Given the description of an element on the screen output the (x, y) to click on. 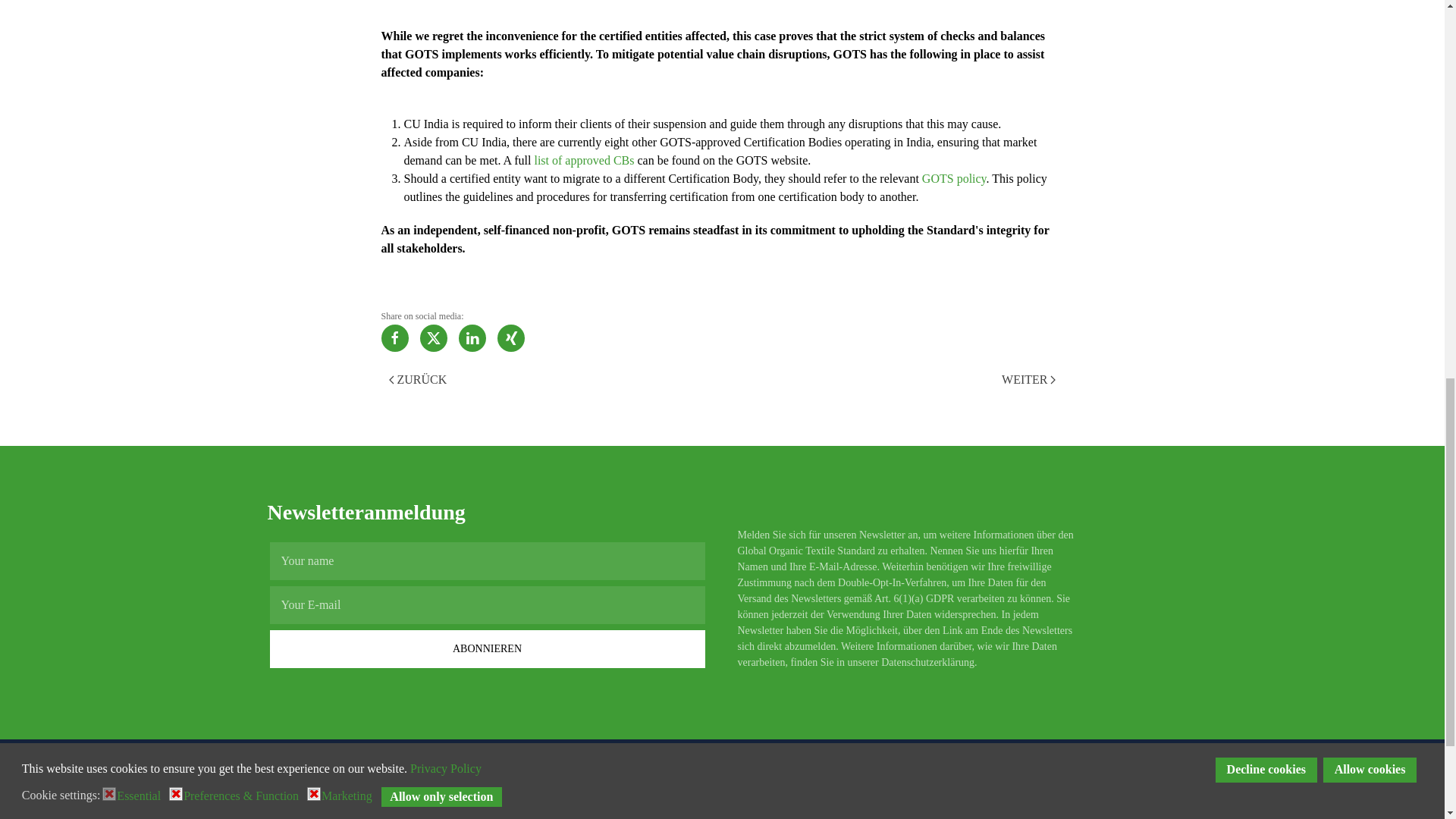
Abonnieren (486, 648)
Xing (397, 816)
Your name (486, 560)
LinkedIN (471, 338)
Your E-mail (486, 605)
Xing (510, 338)
LinkedIN (357, 816)
Your E-mail (486, 605)
Twitter (319, 816)
Your name (486, 560)
